Given the description of an element on the screen output the (x, y) to click on. 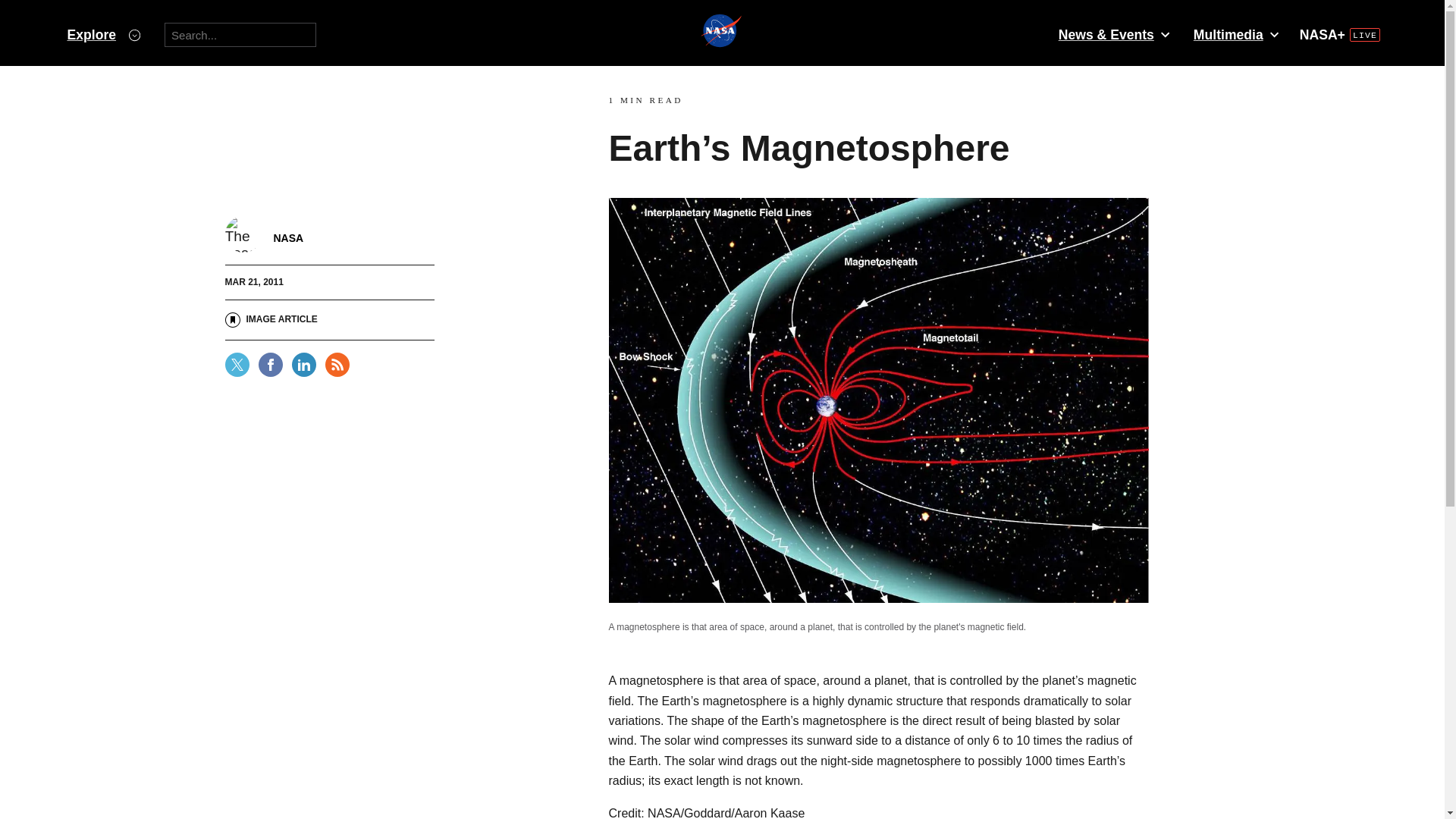
Multimedia (1235, 35)
Explore (103, 35)
